Given the description of an element on the screen output the (x, y) to click on. 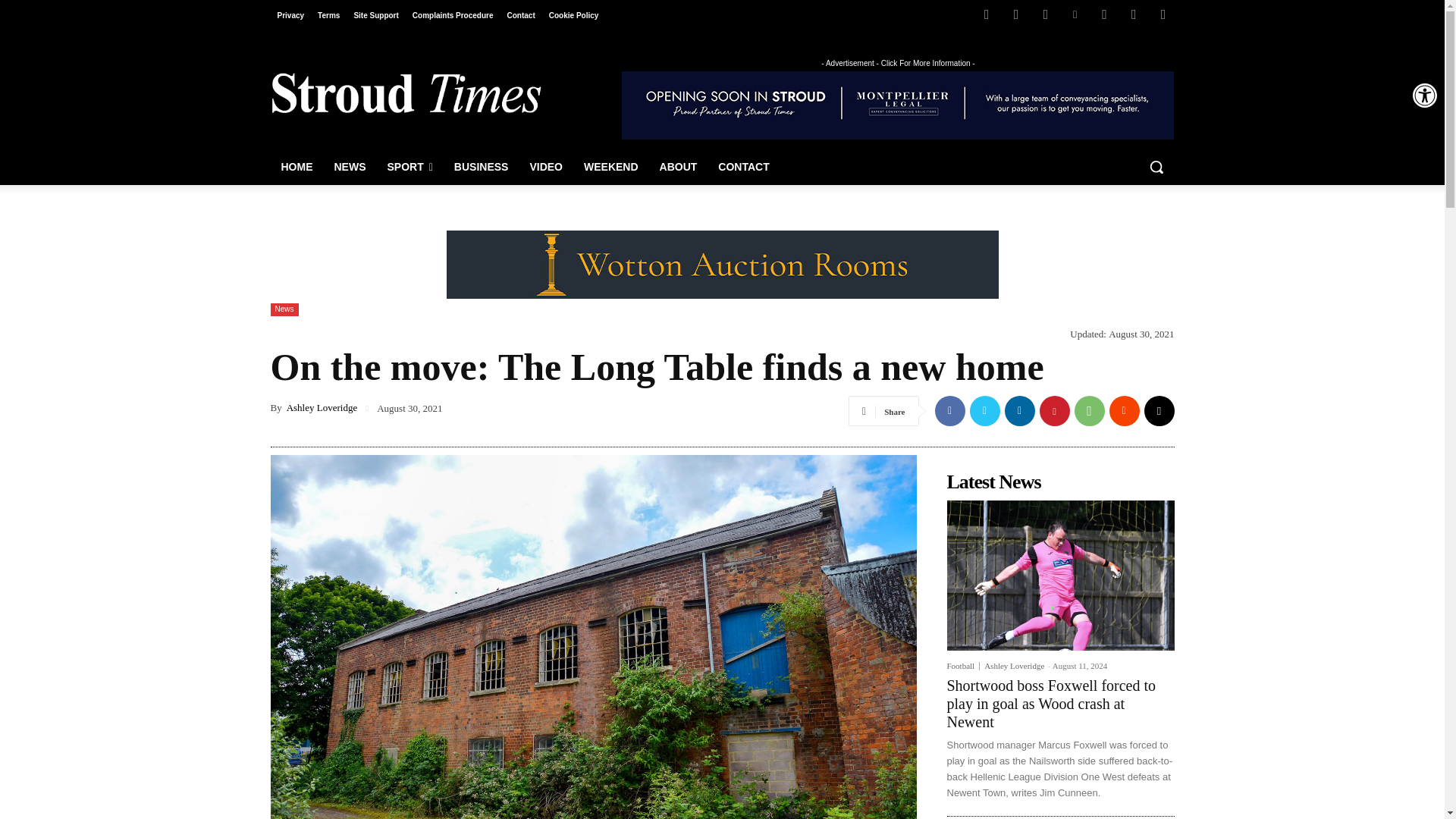
Terms (328, 15)
Flipboard (1016, 14)
Privacy (290, 15)
Facebook (986, 14)
Accessibility Tools (1424, 95)
